Given the description of an element on the screen output the (x, y) to click on. 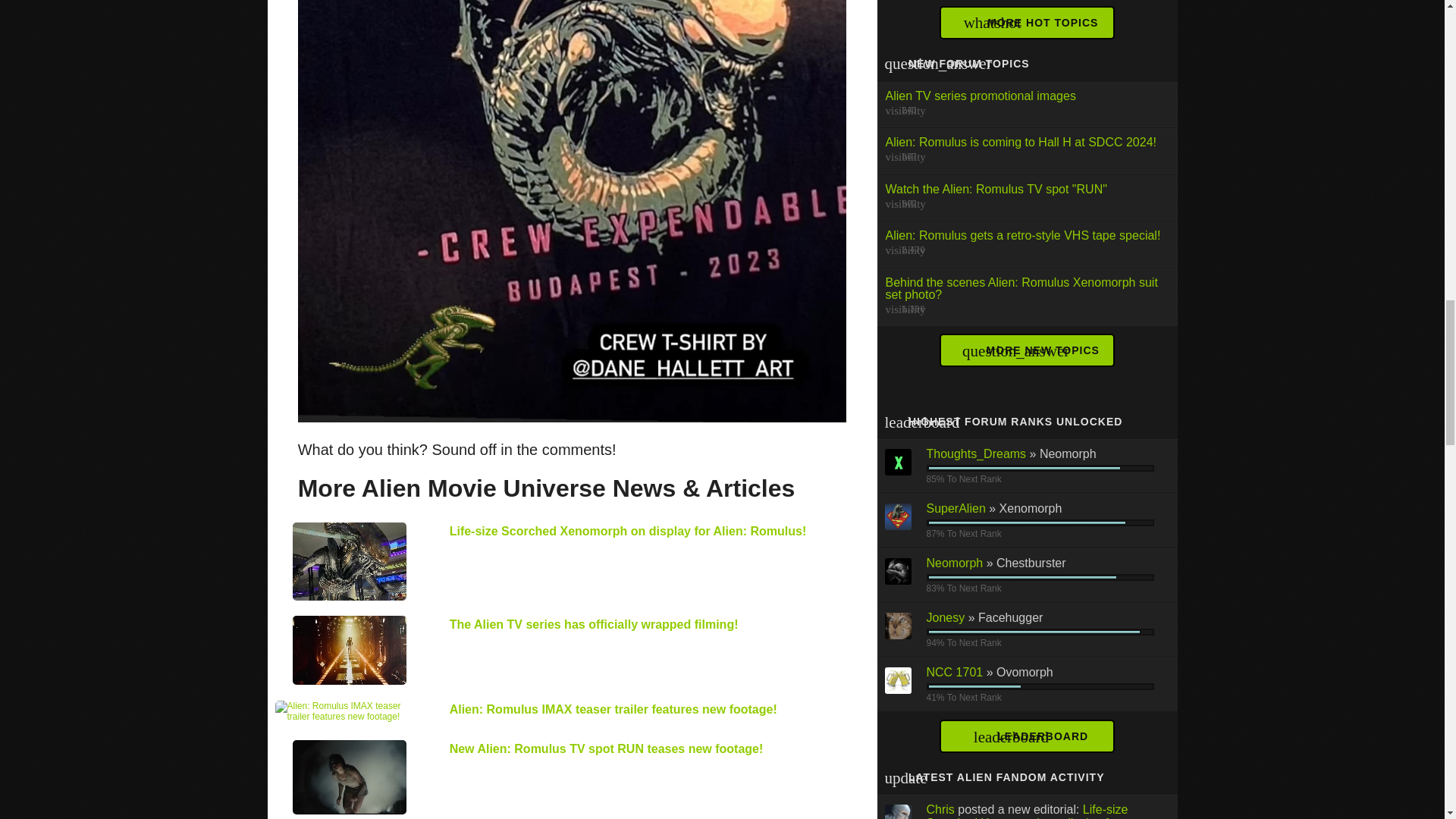
The Alien TV series has officially wrapped filming! (593, 624)
The Alien TV series has officially wrapped filming! (349, 649)
The Alien TV series has officially wrapped filming! (593, 624)
Life-size Scorched Xenomorph on display for Alien: Romulus! (349, 561)
New Alien: Romulus TV spot RUN teases new footage! (349, 777)
New Alien: Romulus TV spot RUN teases new footage! (605, 748)
Alien: Romulus IMAX teaser trailer features new footage! (613, 708)
Life-size Scorched Xenomorph on display for Alien: Romulus! (627, 530)
Alien: Romulus IMAX teaser trailer features new footage! (349, 711)
Life-size Scorched Xenomorph on display for Alien: Romulus! (627, 530)
Alien: Romulus IMAX teaser trailer features new footage! (613, 708)
